Given the description of an element on the screen output the (x, y) to click on. 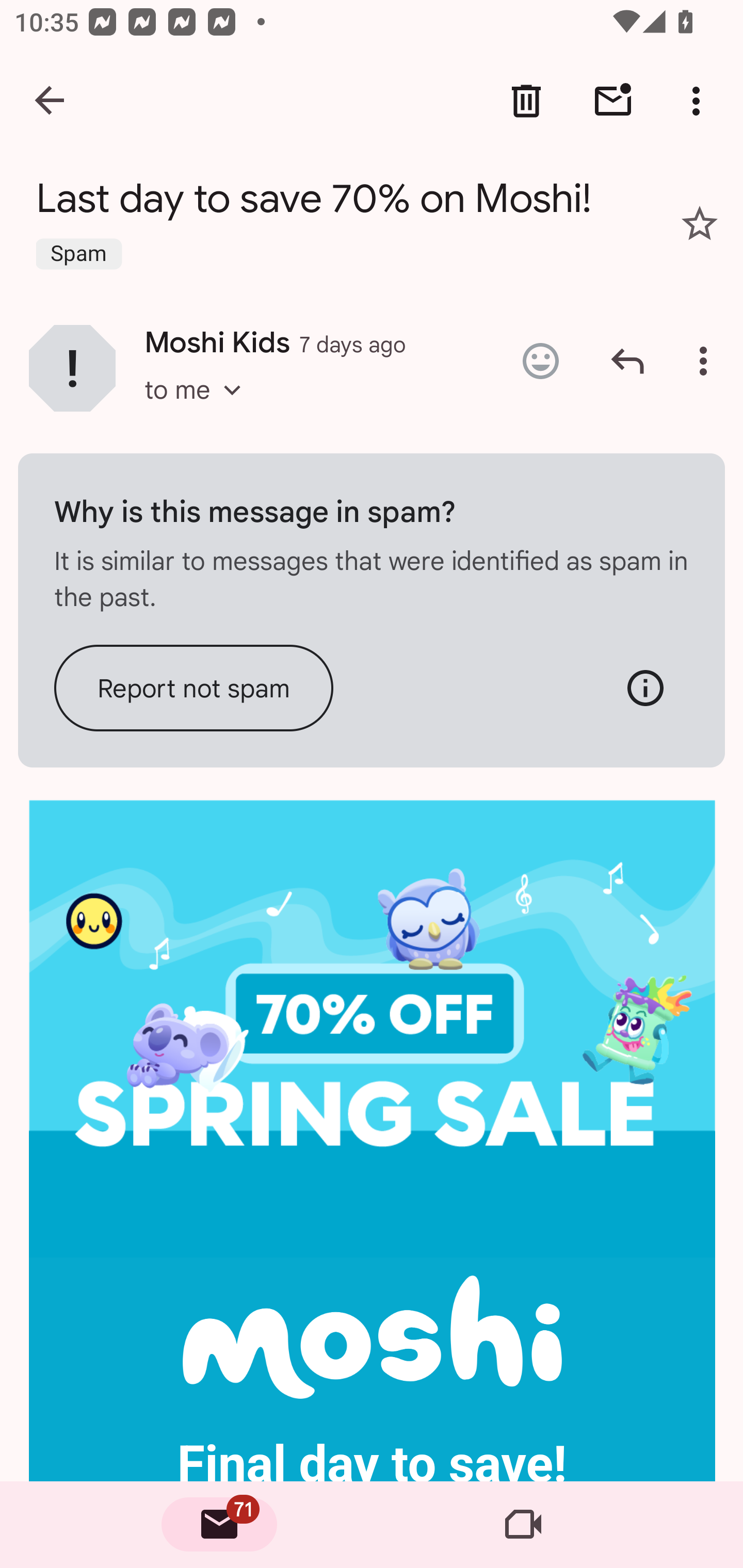
Navigate up (50, 101)
Delete (525, 101)
Mark unread (612, 101)
More options (699, 101)
Add star (699, 223)
Add emoji reaction (540, 361)
Reply (626, 361)
More options (706, 361)
Show contact information for Moshi Kids (71, 367)
to me (199, 408)
Report not spam (193, 687)
More information (644, 687)
Meet (523, 1524)
